Given the description of an element on the screen output the (x, y) to click on. 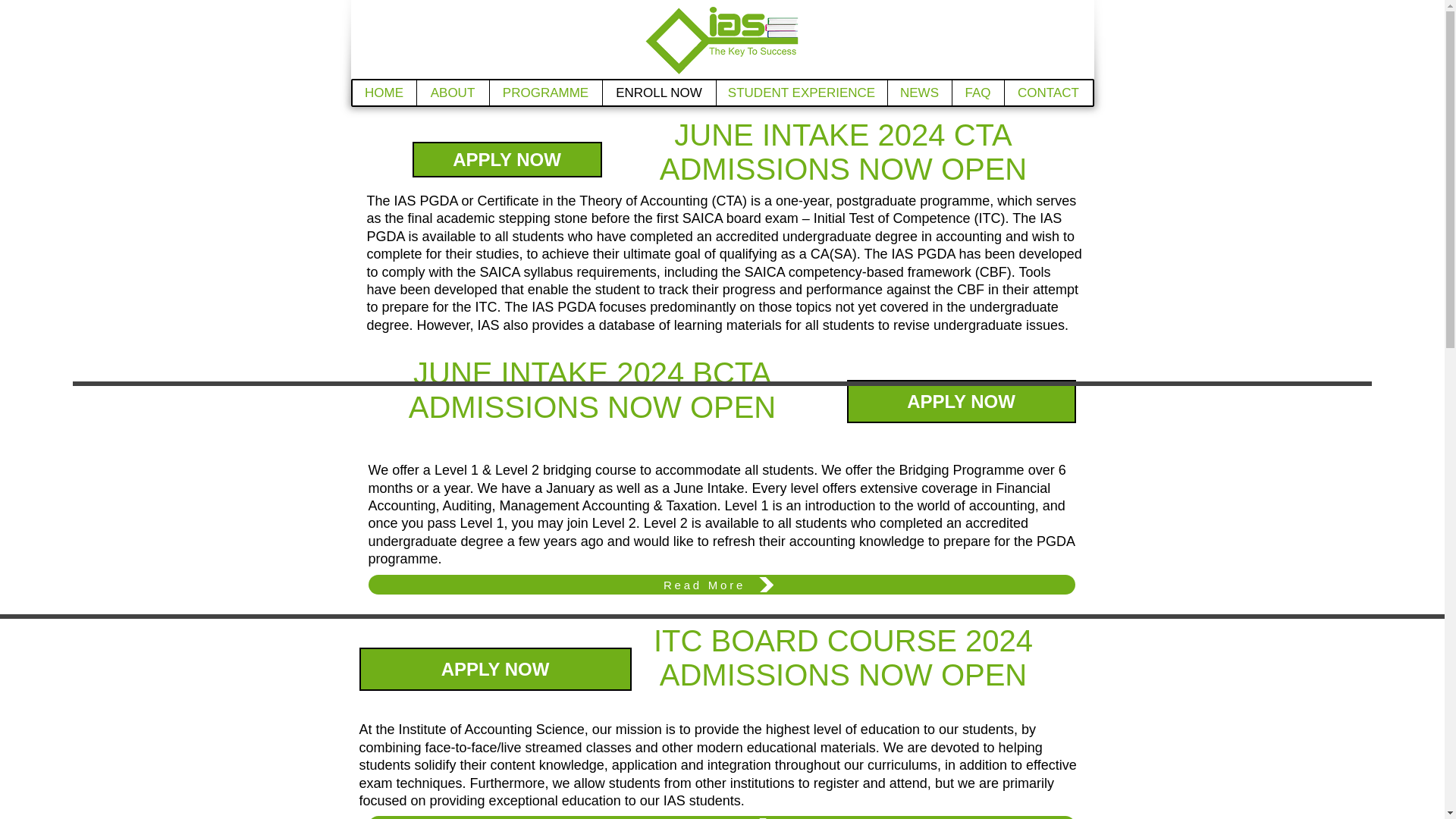
HOME (383, 92)
FAQ (976, 92)
Read More (721, 584)
ENROLL NOW (659, 92)
APPLY NOW (495, 669)
APPLY NOW (960, 401)
APPLY NOW (507, 159)
NEWS (919, 92)
CONTACT (1048, 92)
